Given the description of an element on the screen output the (x, y) to click on. 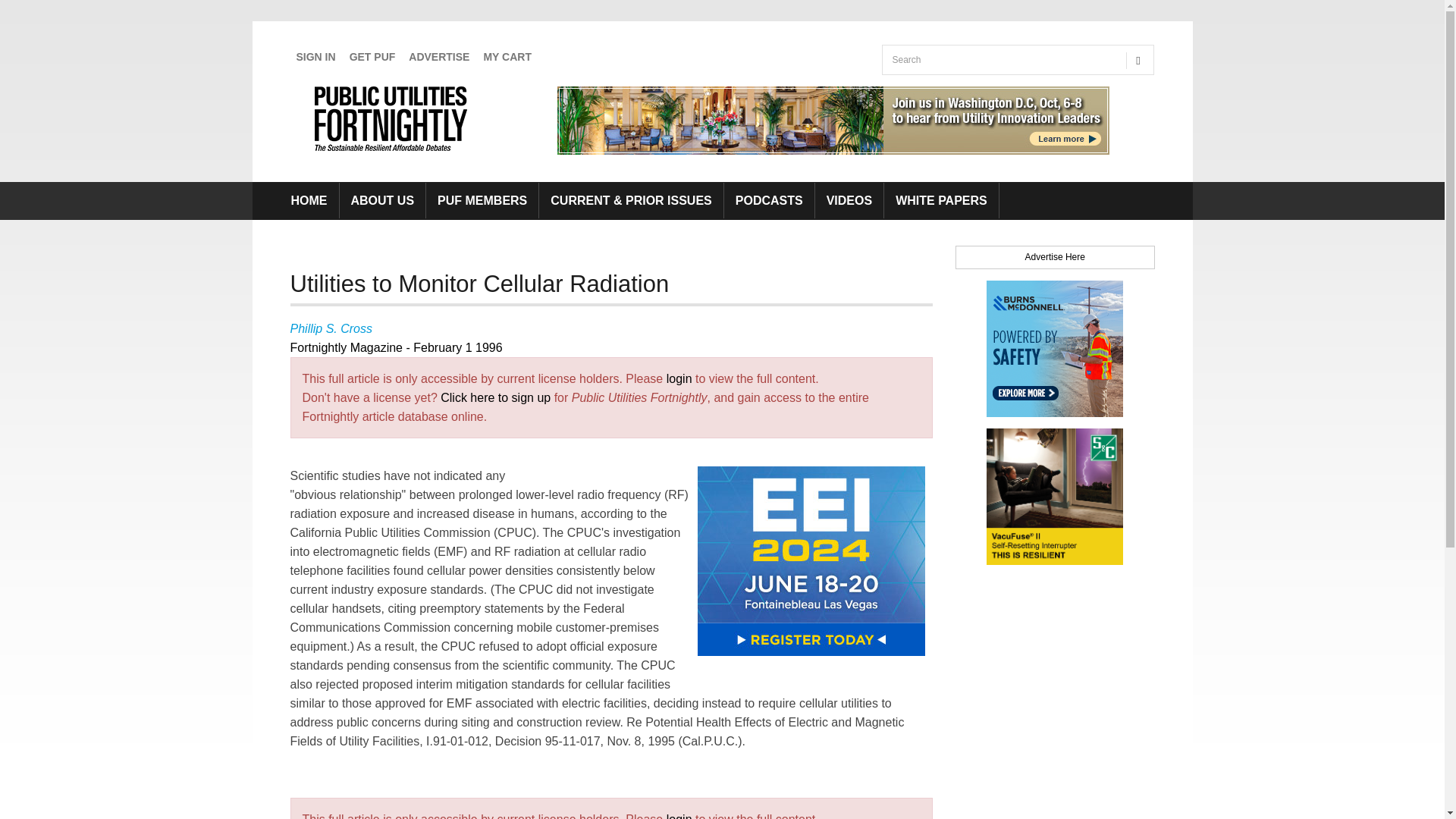
PODCASTS (768, 200)
WHITE PAPERS (940, 200)
PUF MEMBERS (482, 200)
GET PUF (372, 57)
ADVERTISE (439, 57)
login (679, 816)
login (679, 378)
SIGN IN (314, 57)
Search (898, 90)
